Given the description of an element on the screen output the (x, y) to click on. 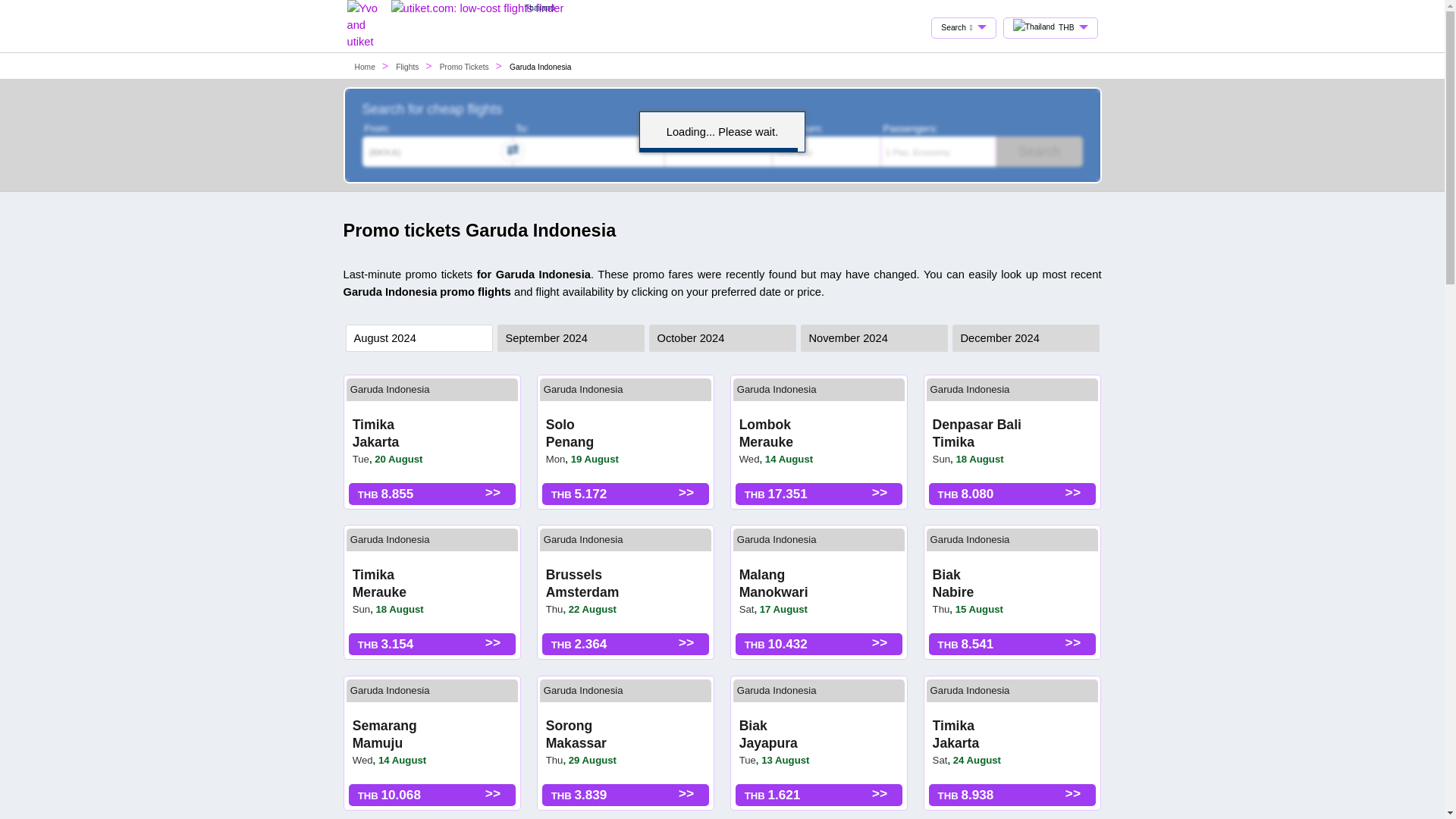
Promo Tickets Garuda Indonesia (970, 690)
Promo Tickets Garuda Indonesia (583, 539)
Garuda Indonesia (776, 389)
Promo Tickets Garuda Indonesia (389, 690)
One-way (773, 583)
Garuda Indonesia (826, 151)
1 Pax, Economy (970, 539)
Garuda Indonesia (937, 151)
Flights (389, 389)
